Given the description of an element on the screen output the (x, y) to click on. 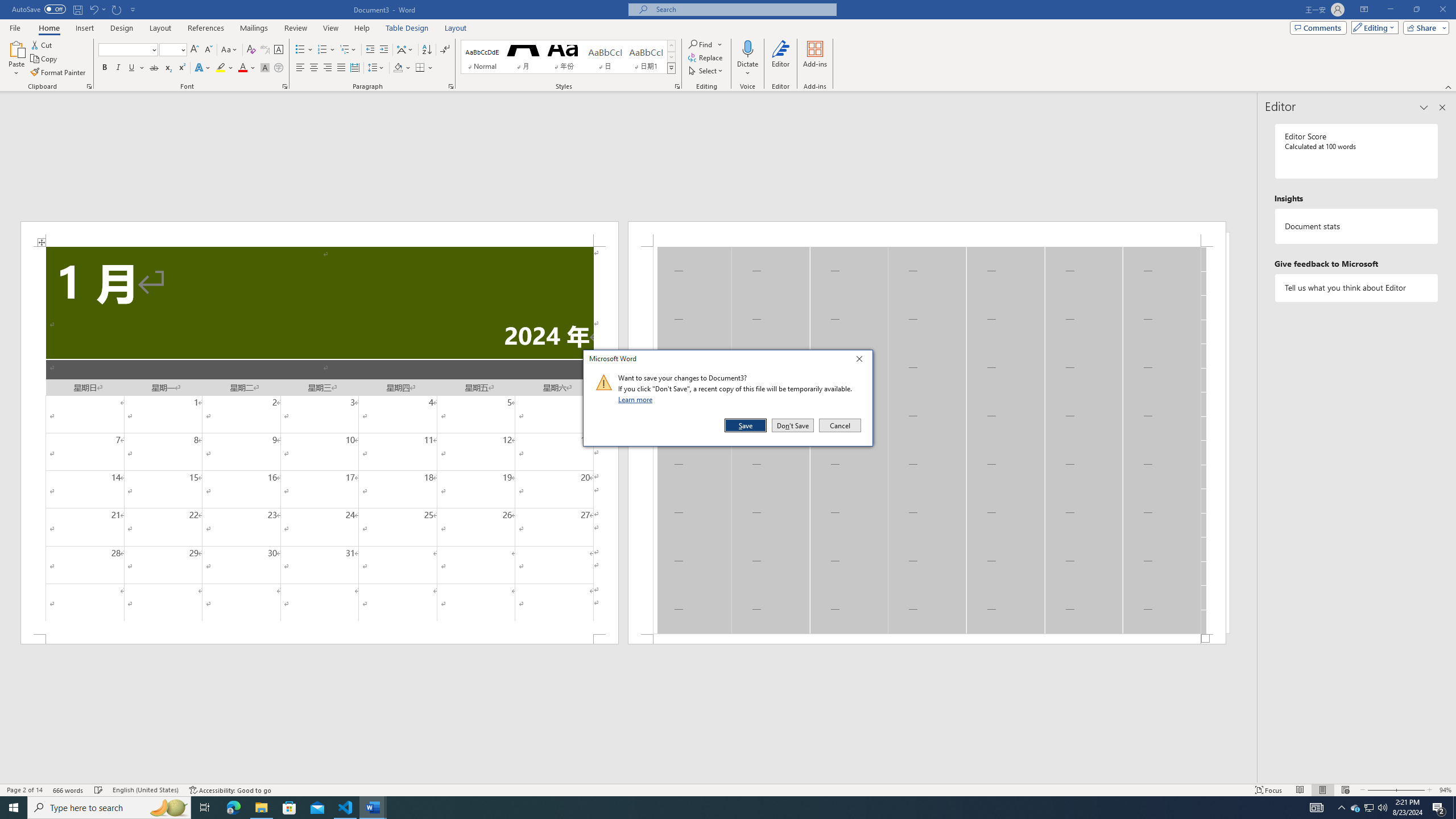
Tell us what you think about Editor (1356, 288)
